Given the description of an element on the screen output the (x, y) to click on. 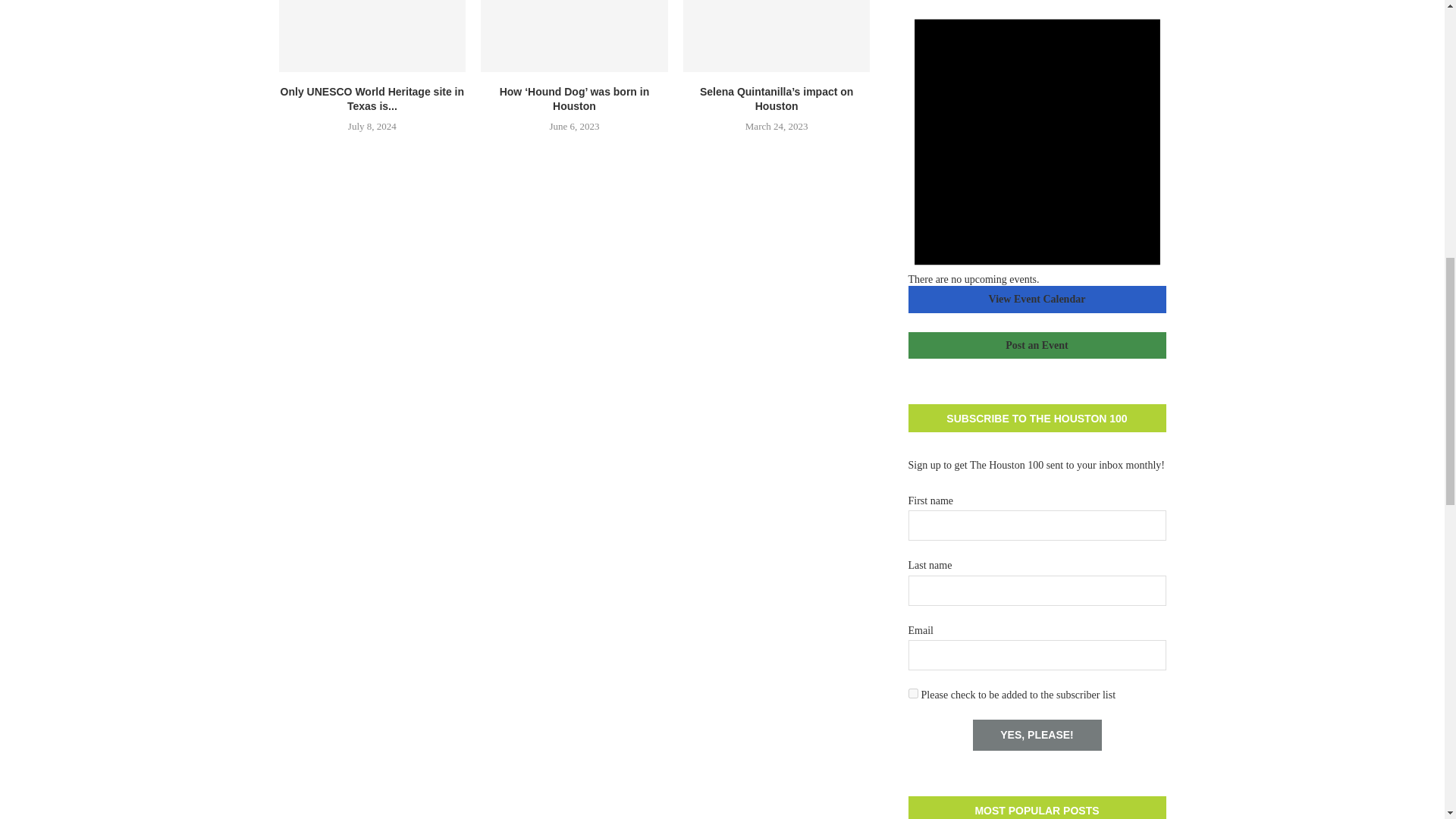
1 (913, 693)
Only UNESCO World Heritage site in Texas is... (372, 99)
YES, PLEASE! (1036, 735)
